Given the description of an element on the screen output the (x, y) to click on. 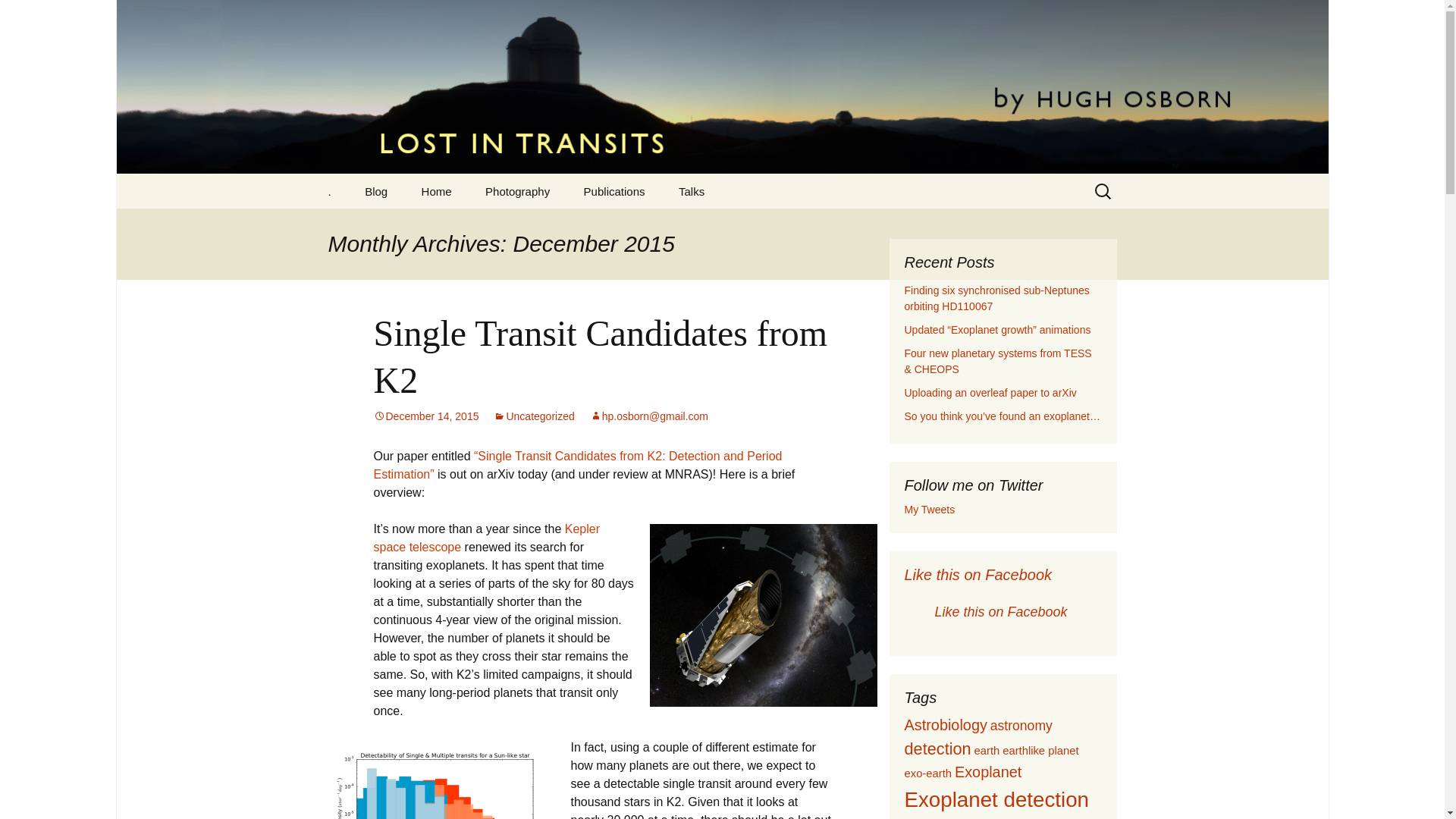
Astrobiology (945, 724)
Talks (691, 191)
astronomy (1021, 725)
December 14, 2015 (425, 416)
earthlike planet (1040, 750)
Home (436, 191)
Like this on Facebook (977, 574)
Search (18, 15)
earth (987, 750)
